Given the description of an element on the screen output the (x, y) to click on. 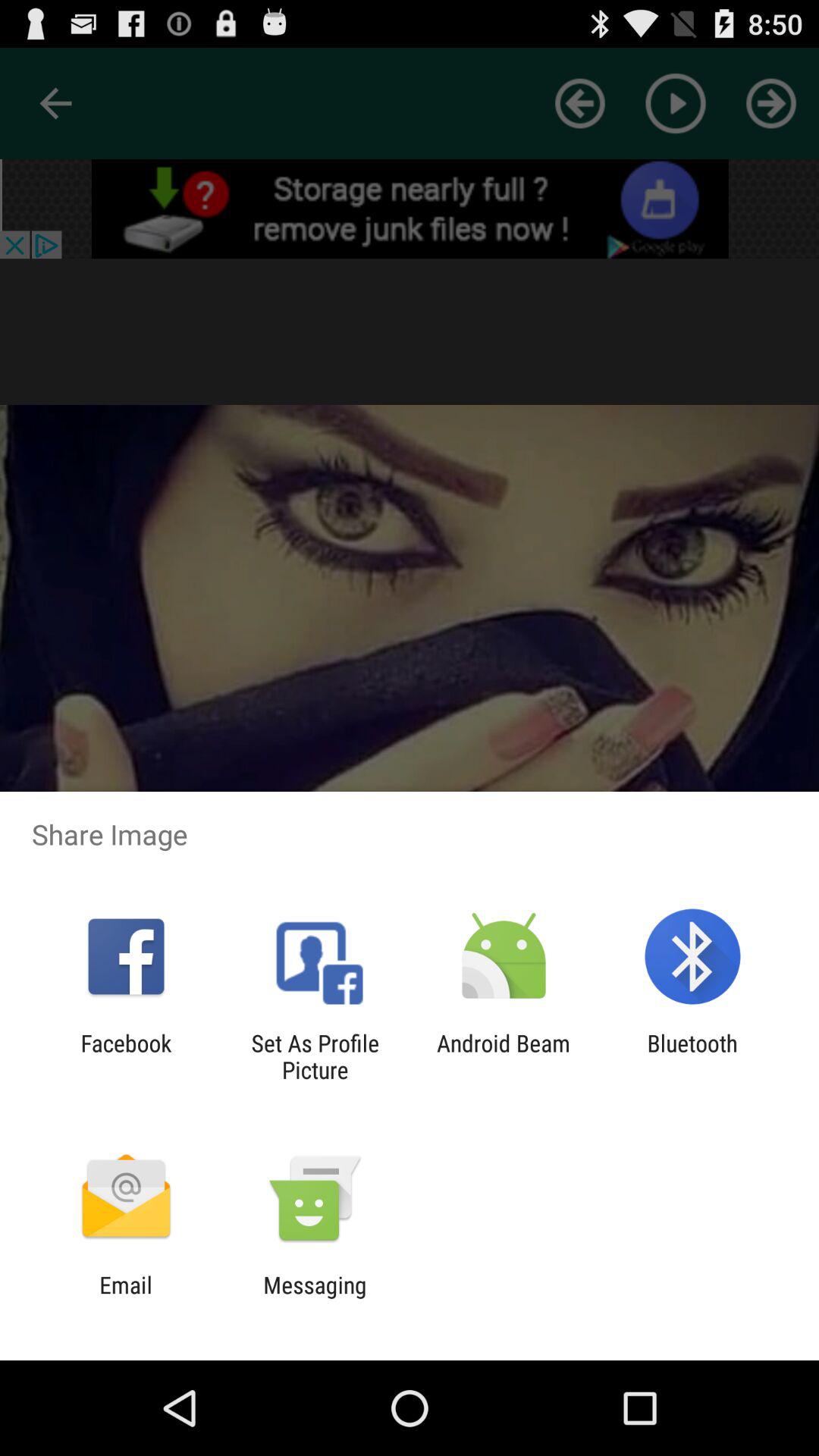
press set as profile icon (314, 1056)
